Given the description of an element on the screen output the (x, y) to click on. 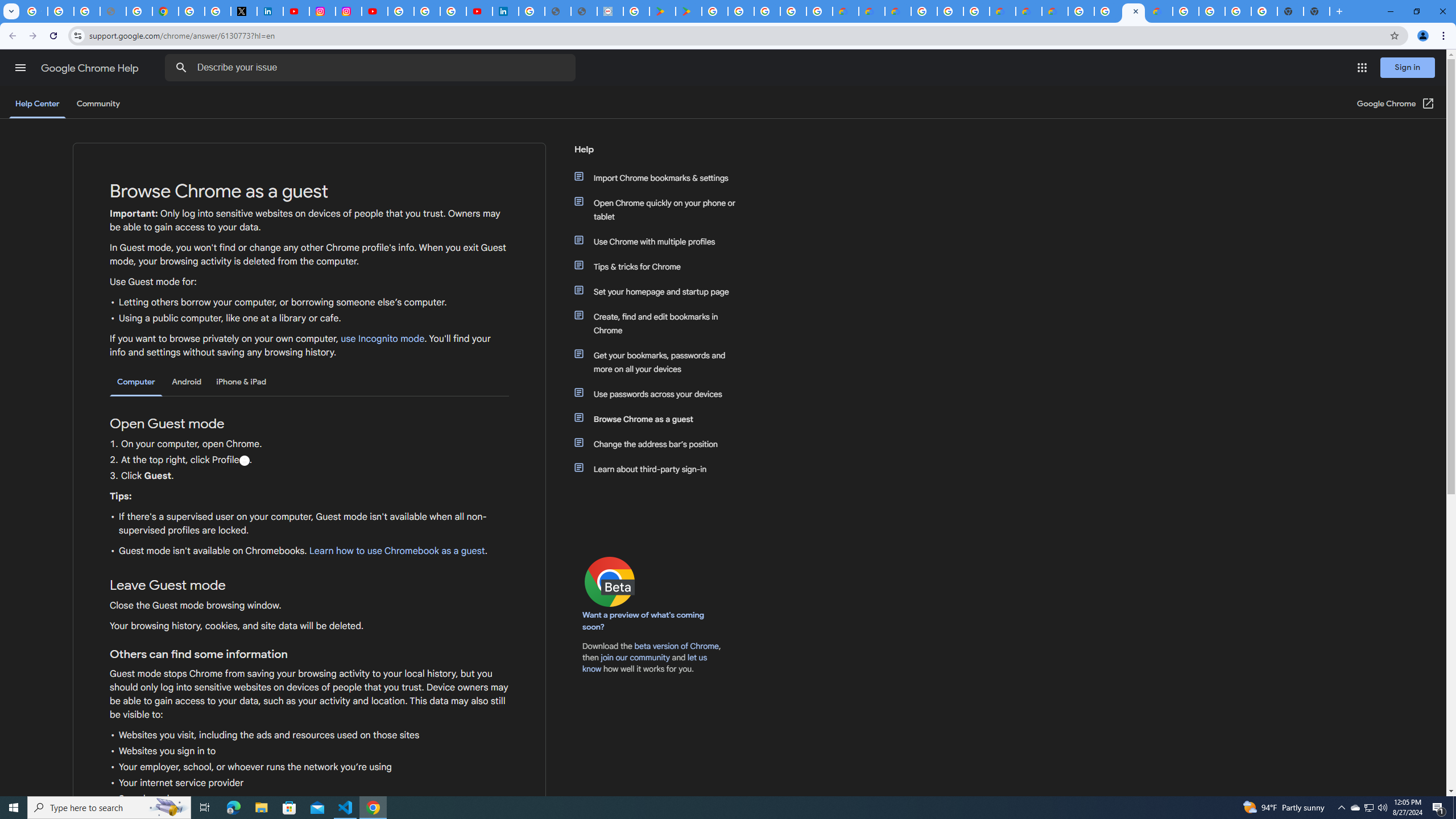
YouTube Content Monetization Policies - How YouTube Works (296, 11)
beta version of Chrome (676, 646)
Google Cloud Pricing Calculator (1028, 11)
Computer (136, 382)
Google Cloud Platform (1211, 11)
Browse Chrome as a guest - Computer - Google Chrome Help (1133, 11)
Use passwords across your devices (661, 394)
Android Apps on Google Play (663, 11)
Data Privacy Framework (610, 11)
Browse Chrome as a guest - Computer - Google Chrome Help (1107, 11)
Sign in - Google Accounts (400, 11)
